Given the description of an element on the screen output the (x, y) to click on. 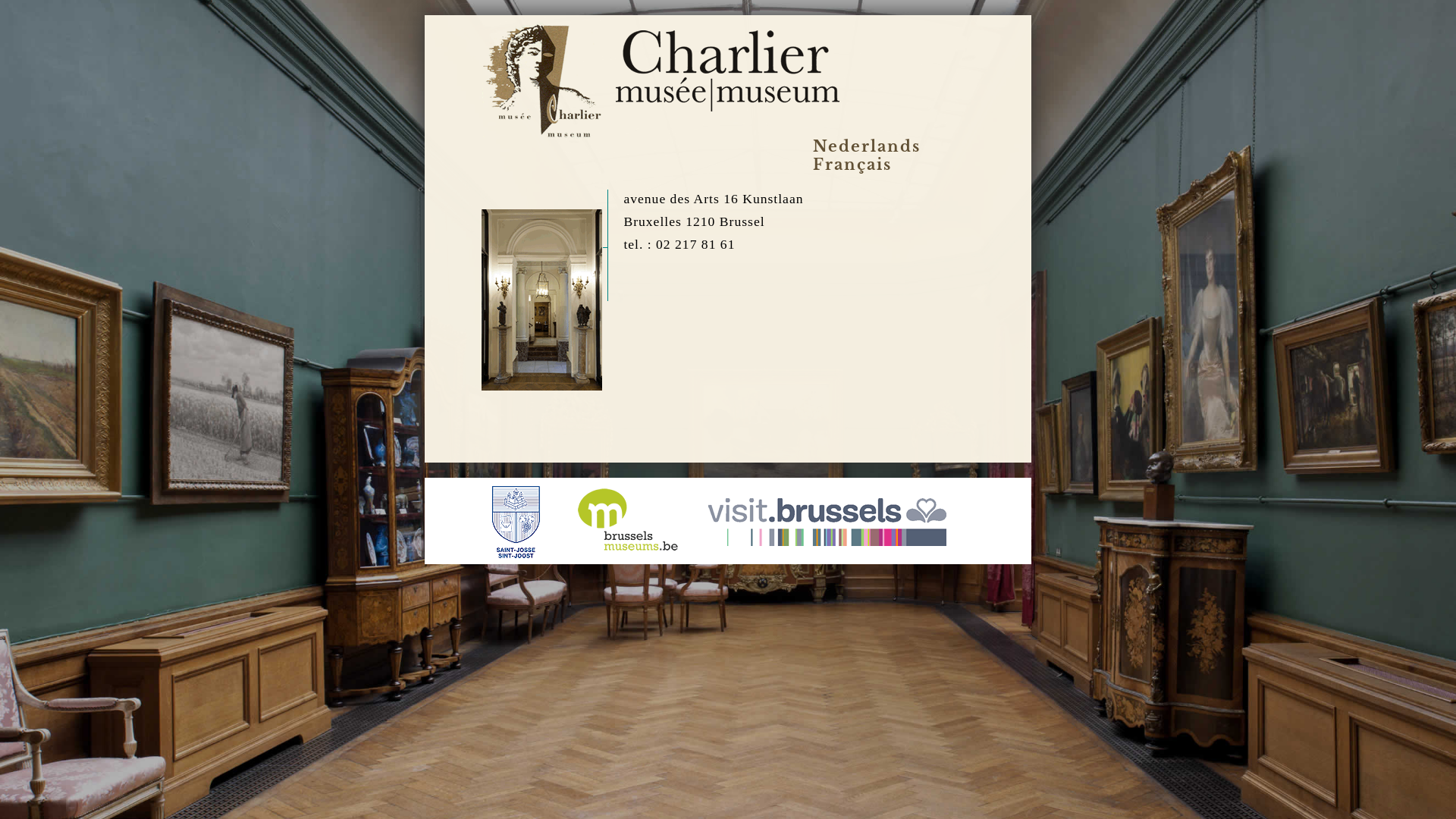
Nederlands Element type: text (866, 146)
